Given the description of an element on the screen output the (x, y) to click on. 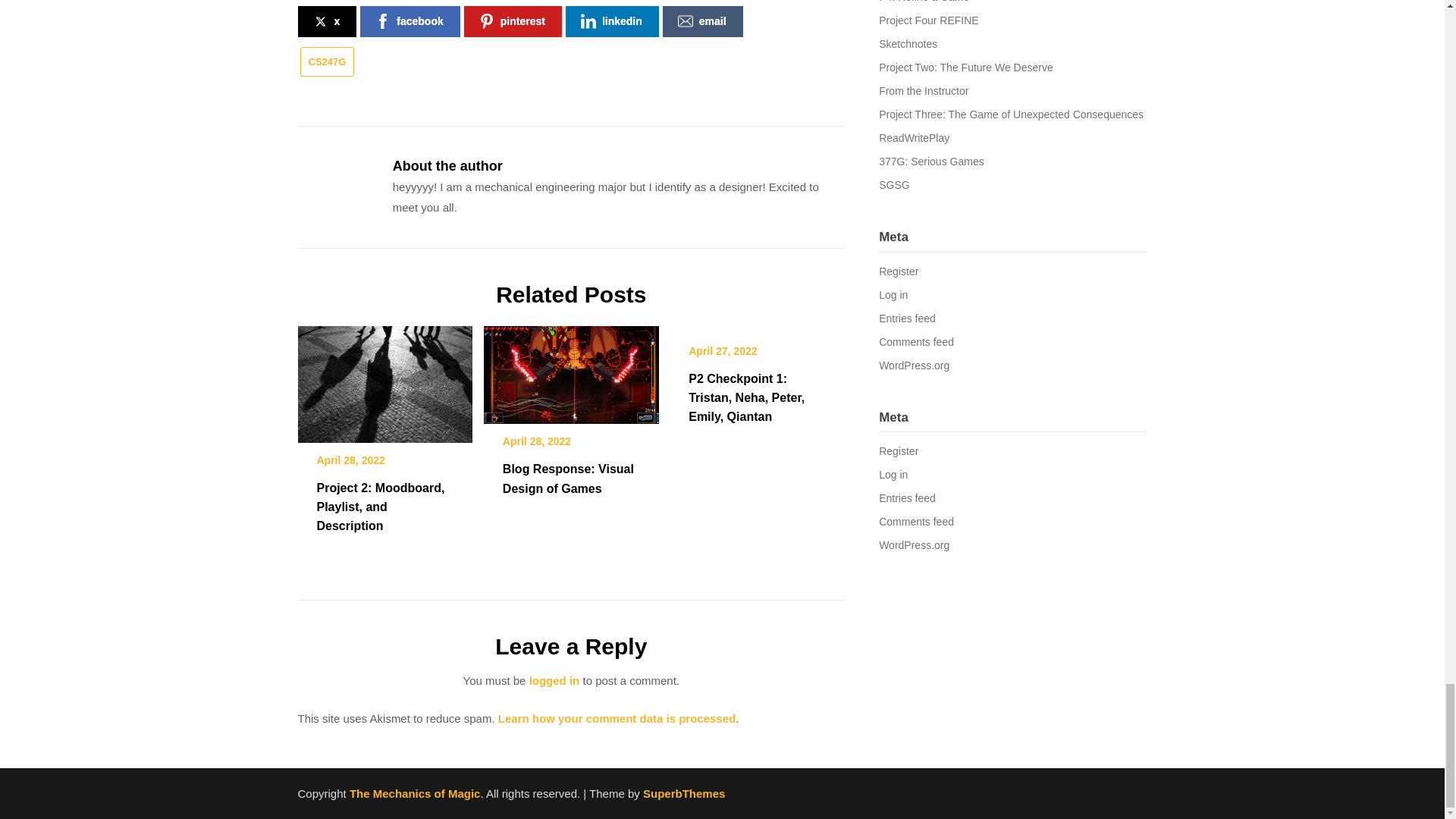
Blog Response: Visual Design of Games (571, 369)
Project 2: Moodboard, Playlist, and Description (384, 379)
